Given the description of an element on the screen output the (x, y) to click on. 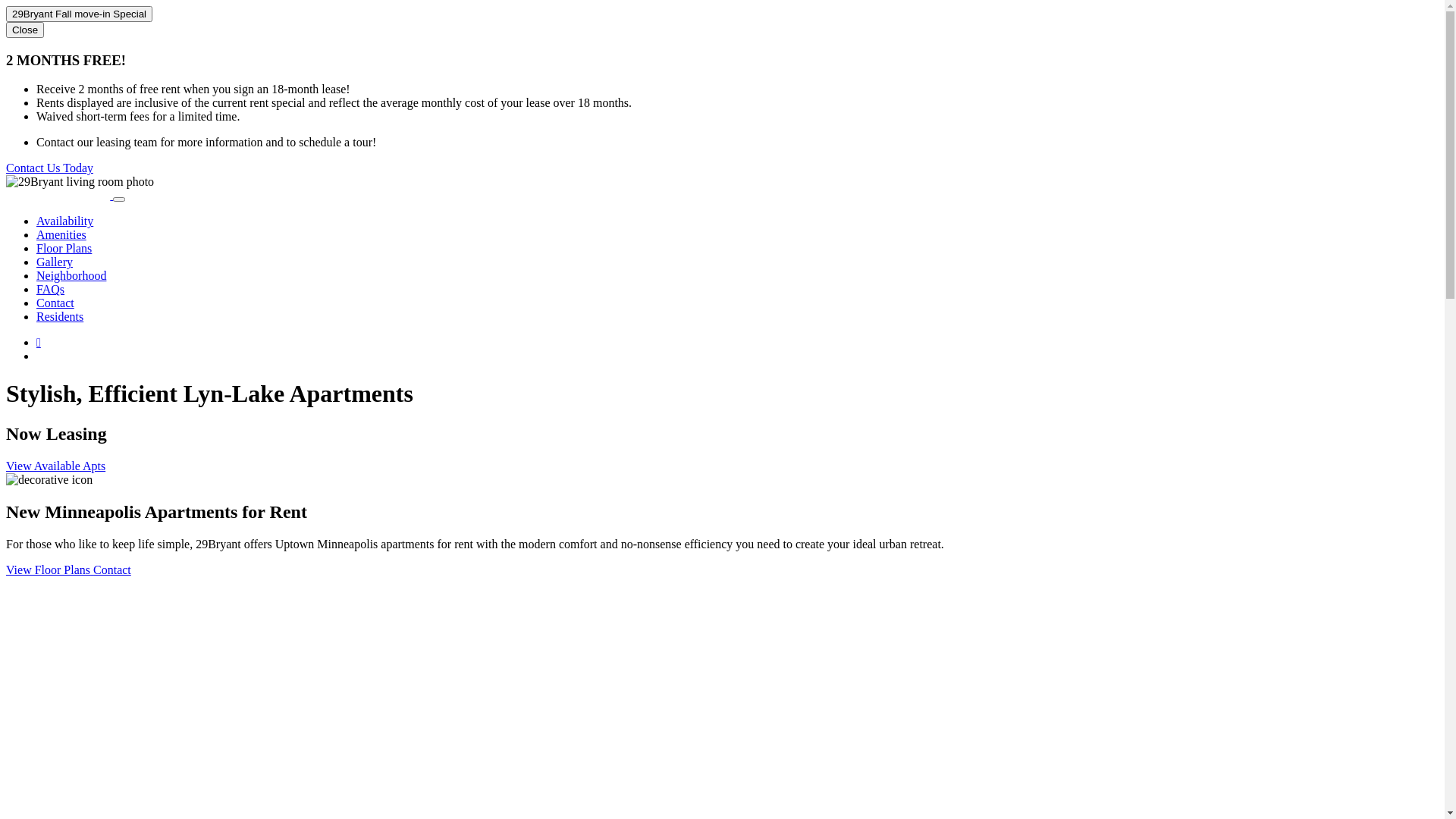
View Available Apts Element type: text (55, 465)
Facebook Element type: hover (38, 341)
Contact Us Today Element type: text (49, 167)
Contact Element type: text (55, 302)
Amenities Element type: text (61, 234)
29Bryant Fall move-in Special Element type: text (79, 13)
Availability Element type: text (64, 220)
Close Element type: text (24, 29)
Neighborhood Element type: text (71, 275)
Gallery Element type: text (54, 261)
Contact Element type: text (112, 569)
Floor Plans Element type: text (63, 247)
Residents Element type: text (59, 316)
FAQs Element type: text (50, 288)
View Floor Plans Element type: text (49, 569)
